Given the description of an element on the screen output the (x, y) to click on. 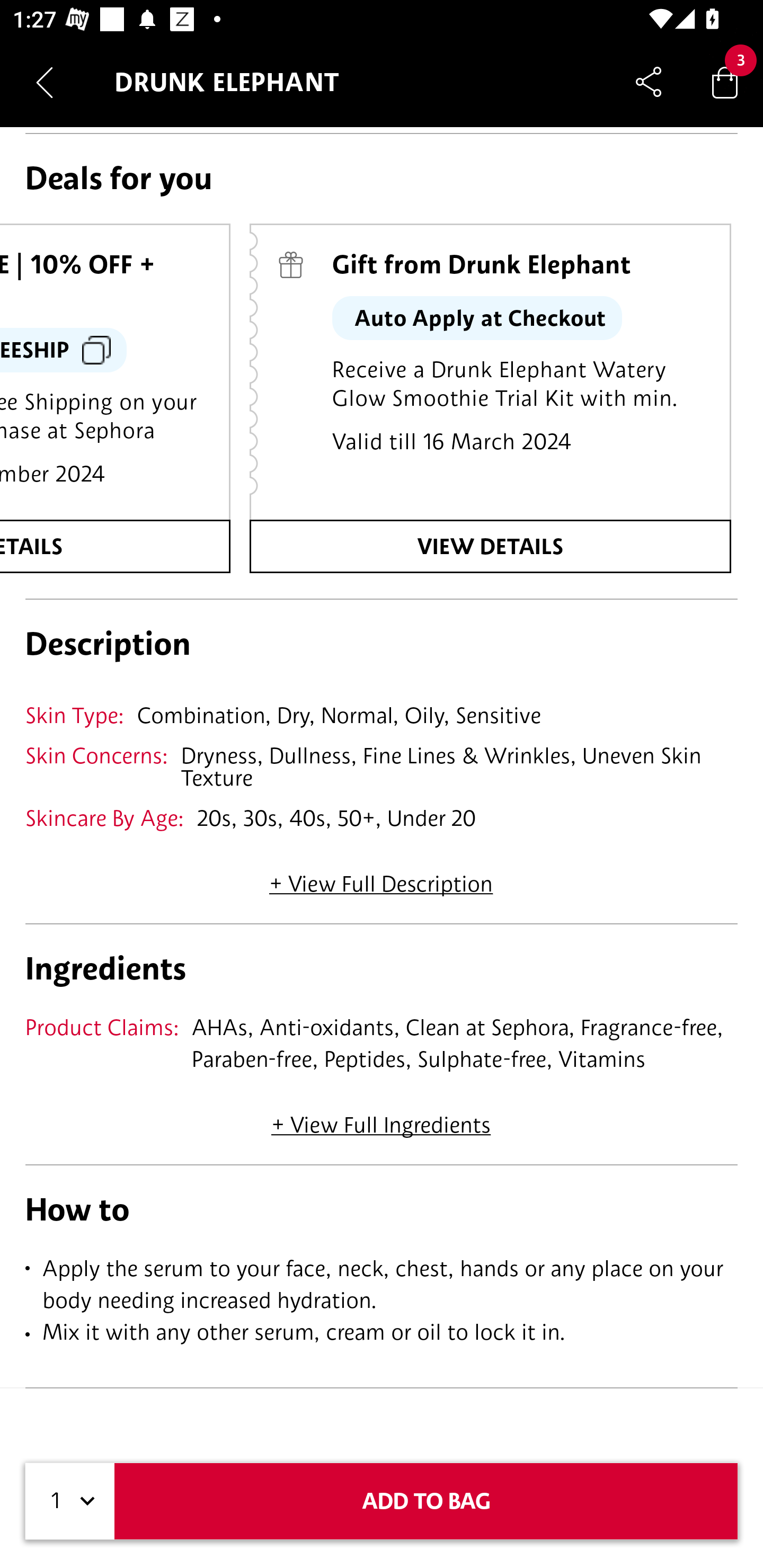
Navigate up (44, 82)
Share (648, 81)
Bag (724, 81)
VIEW DETAILS (489, 546)
+ View Full Description (380, 877)
+ View Full Ingredients (380, 1118)
1 (69, 1500)
ADD TO BAG (425, 1500)
